Given the description of an element on the screen output the (x, y) to click on. 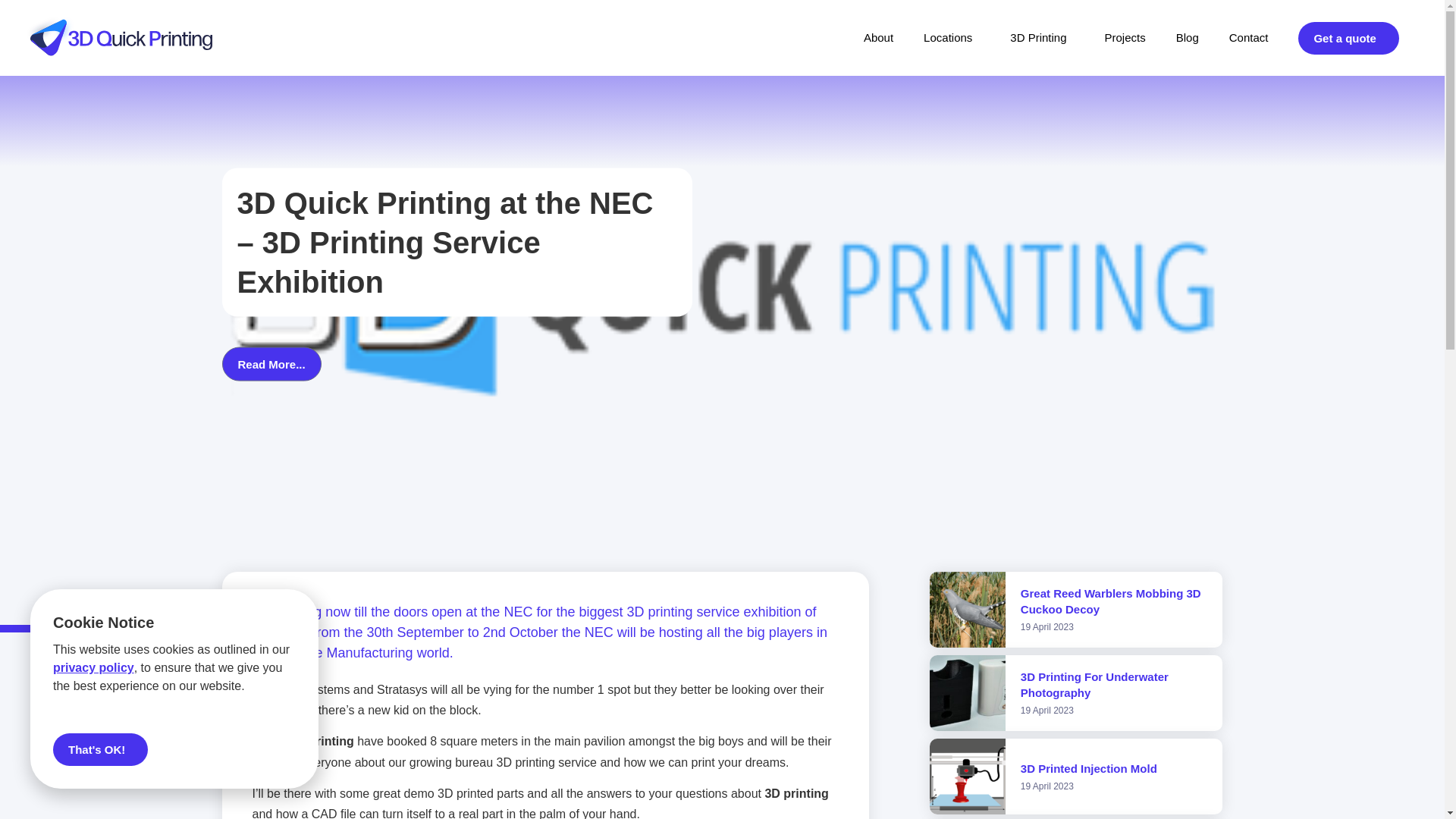
Locations (951, 37)
3D Printing (1042, 37)
Blog (1187, 37)
Read More... (270, 363)
About (878, 37)
Get a quote (1348, 37)
Contact (1248, 37)
Projects (1125, 37)
